Given the description of an element on the screen output the (x, y) to click on. 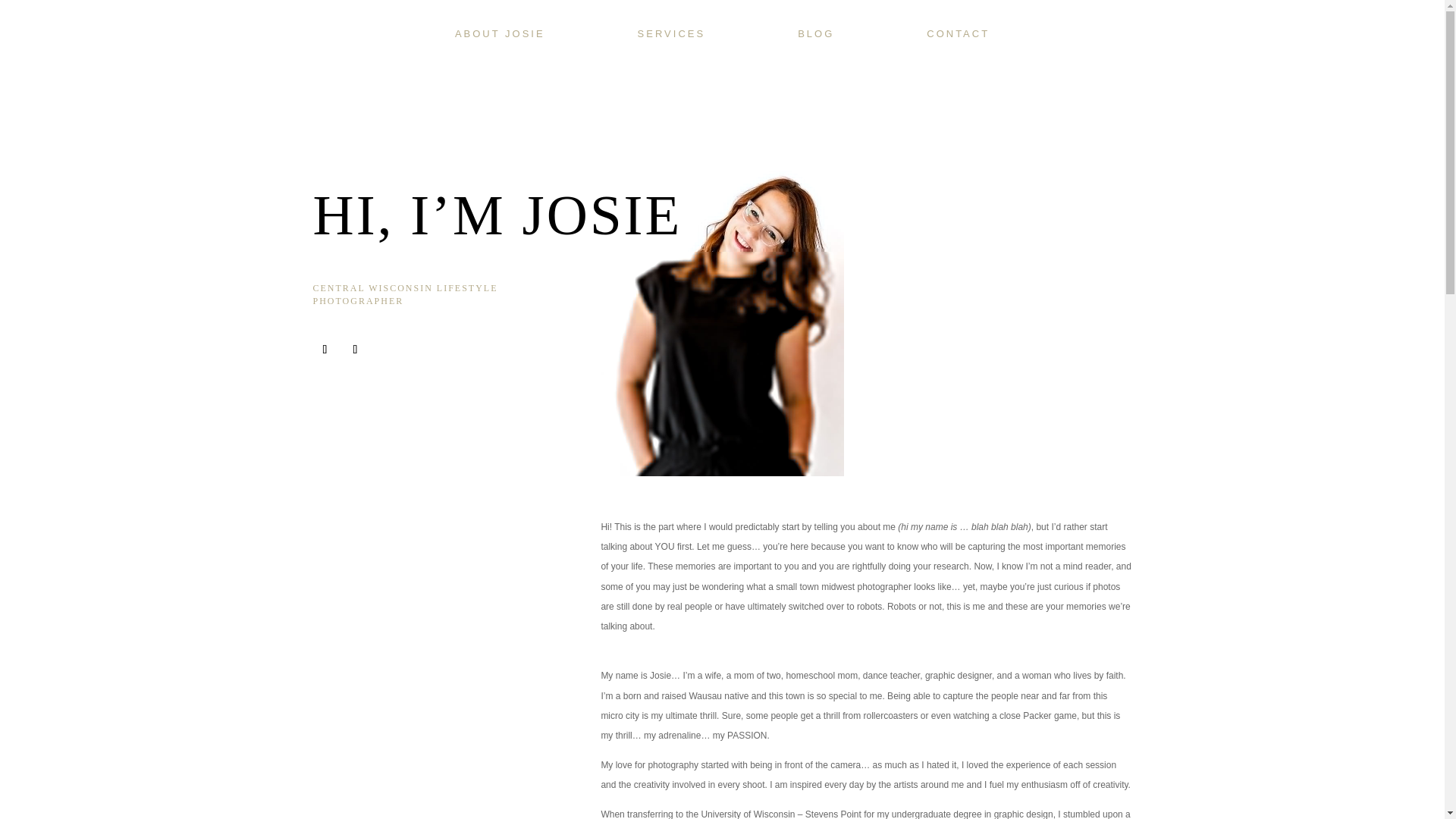
SERVICES (671, 33)
Headshot2 (721, 311)
Follow on Instagram (354, 349)
BLOG (816, 33)
CONTACT (957, 33)
Follow on Facebook (324, 349)
ABOUT JOSIE (499, 33)
